Given the description of an element on the screen output the (x, y) to click on. 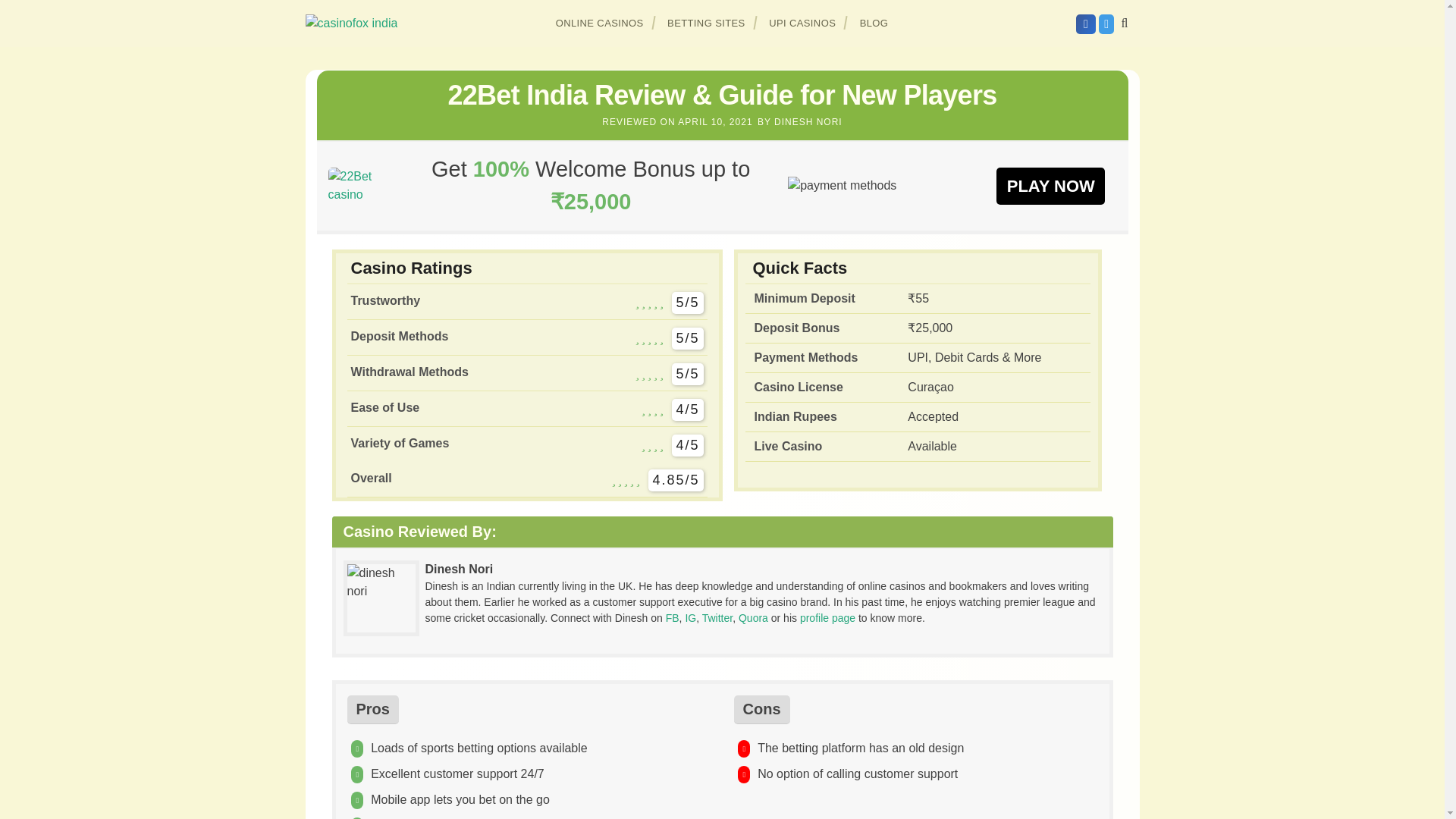
22Bet (1050, 185)
Quora (753, 617)
Twitter (716, 617)
22Bet (360, 185)
profile page (827, 617)
FB (672, 617)
UPI CASINOS (801, 23)
ONLINE CASINOS (599, 23)
PLAY NOW (1050, 185)
BETTING SITES (706, 23)
BLOG (874, 23)
IG (689, 617)
